Given the description of an element on the screen output the (x, y) to click on. 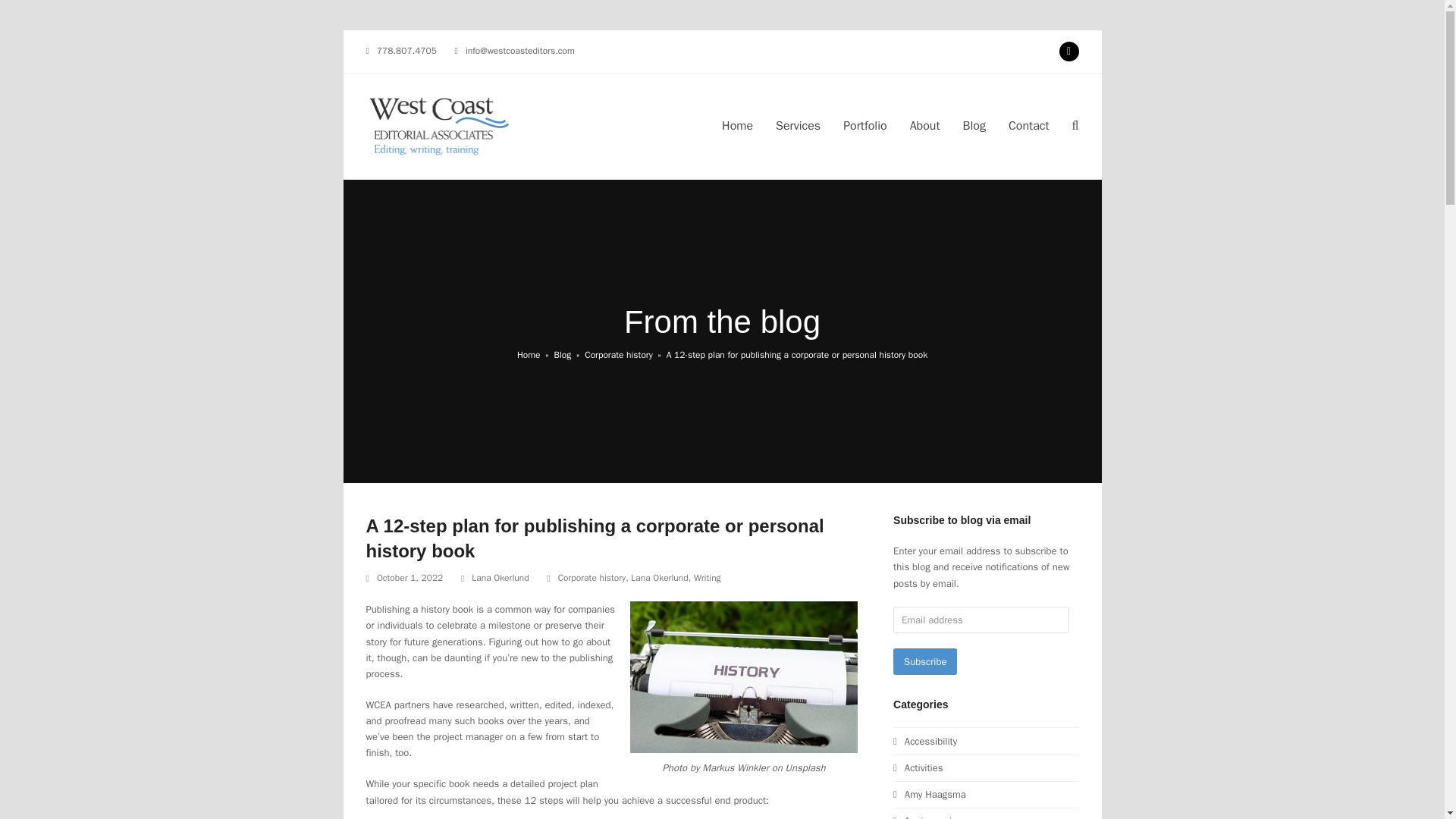
About (925, 126)
Home (737, 126)
Lana Okerlund (658, 577)
Blog (561, 354)
Portfolio (864, 126)
Writing (707, 577)
778.807.4705 (406, 50)
Posts by Lana Okerlund (499, 577)
LinkedIn (1068, 51)
Blog (974, 126)
